Given the description of an element on the screen output the (x, y) to click on. 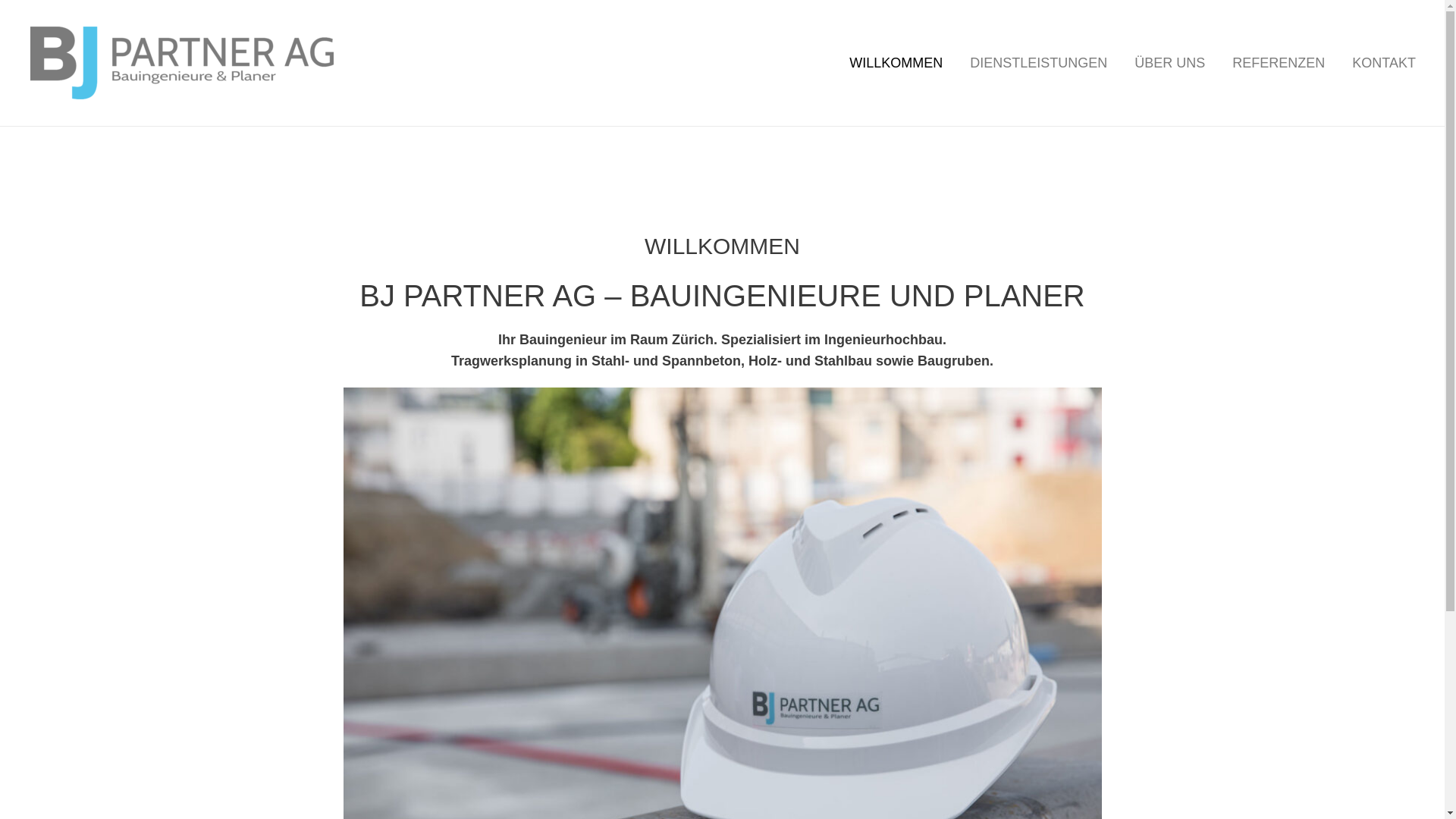
KONTAKT Element type: text (1383, 62)
DIENSTLEISTUNGEN Element type: text (1038, 62)
WILLKOMMEN Element type: text (895, 62)
REFERENZEN Element type: text (1278, 62)
